Given the description of an element on the screen output the (x, y) to click on. 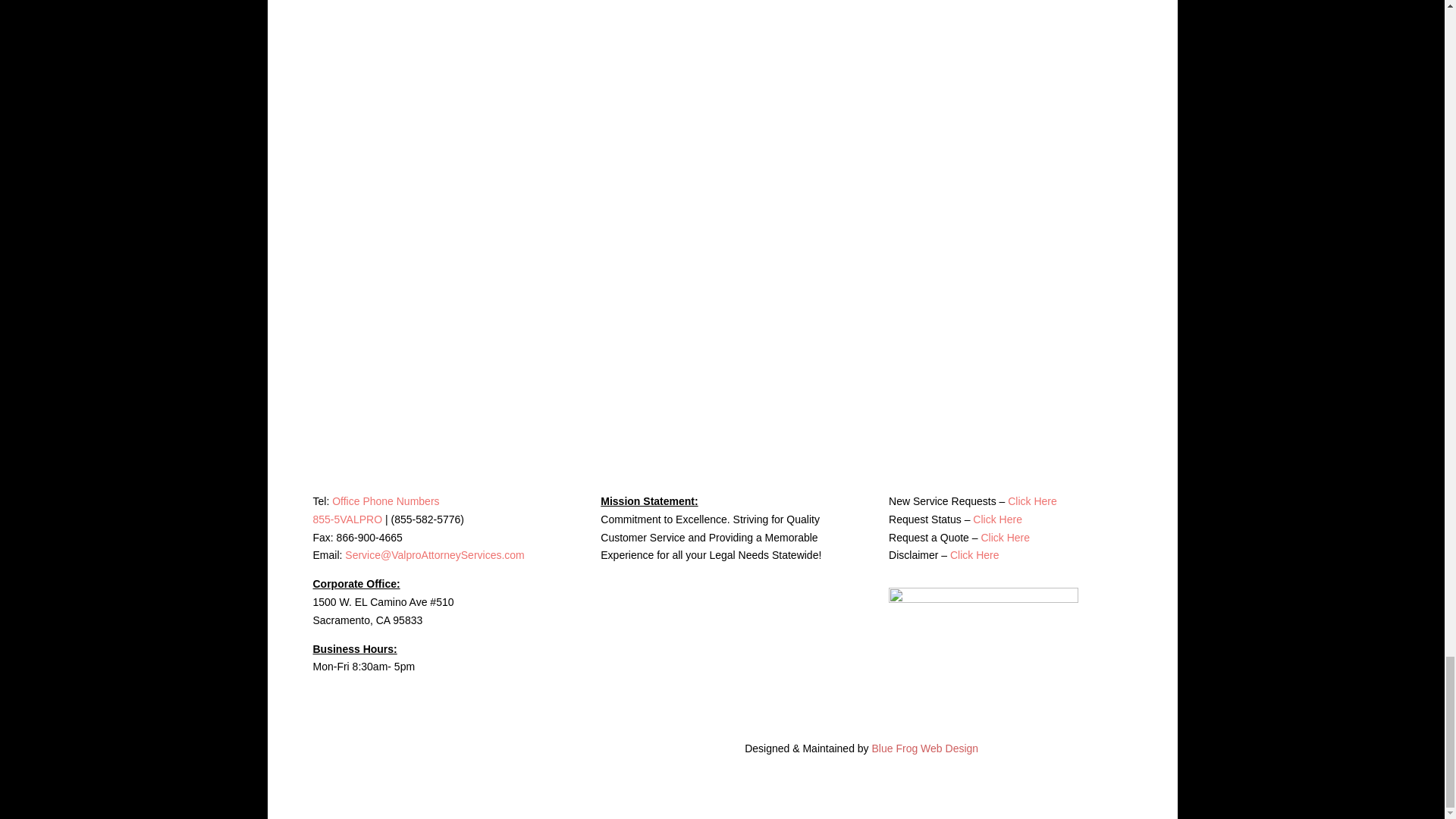
Follow on google-plus (930, 651)
Follow on Facebook (900, 651)
